Given the description of an element on the screen output the (x, y) to click on. 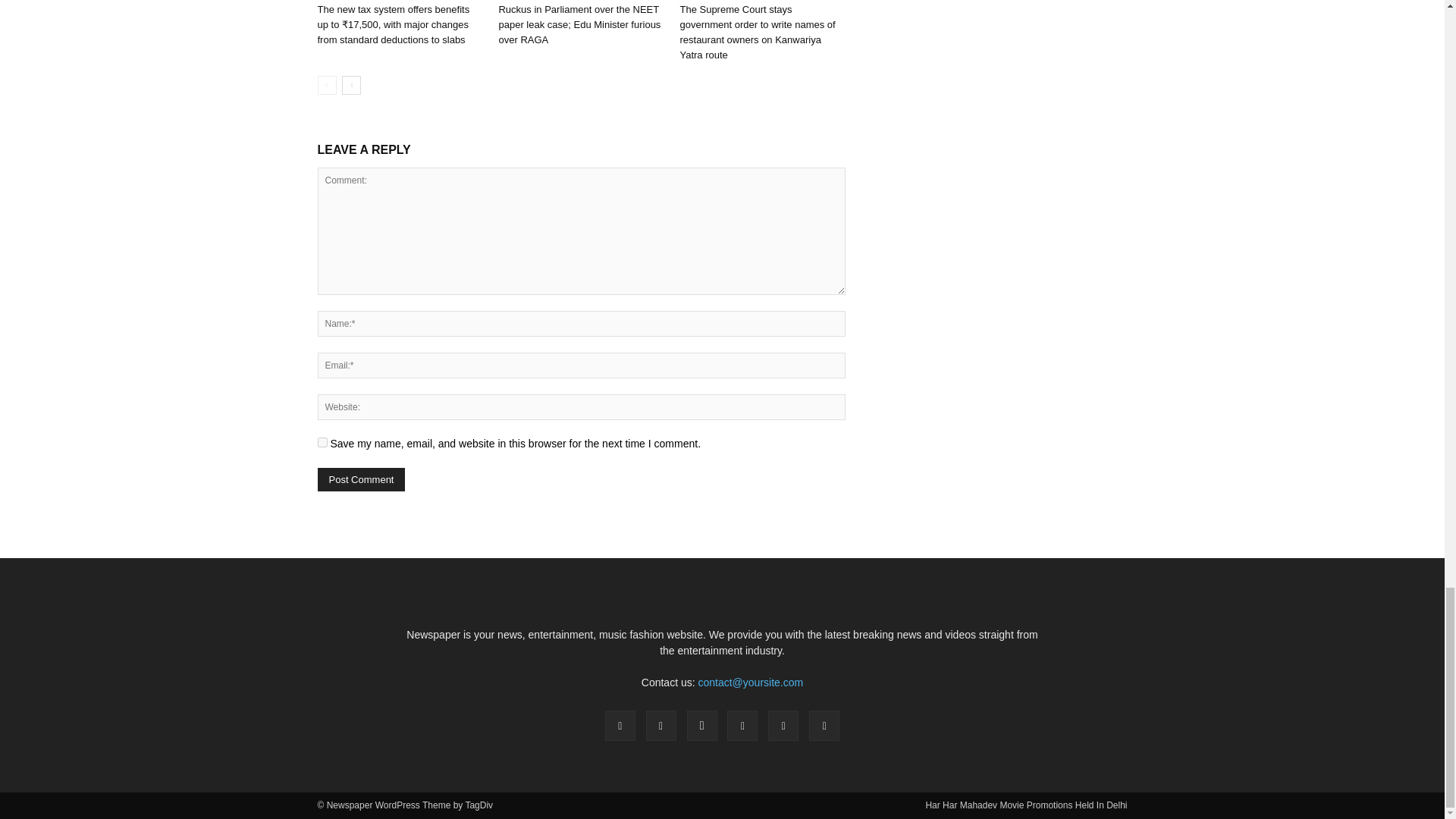
yes (321, 442)
Post Comment (360, 479)
